Given the description of an element on the screen output the (x, y) to click on. 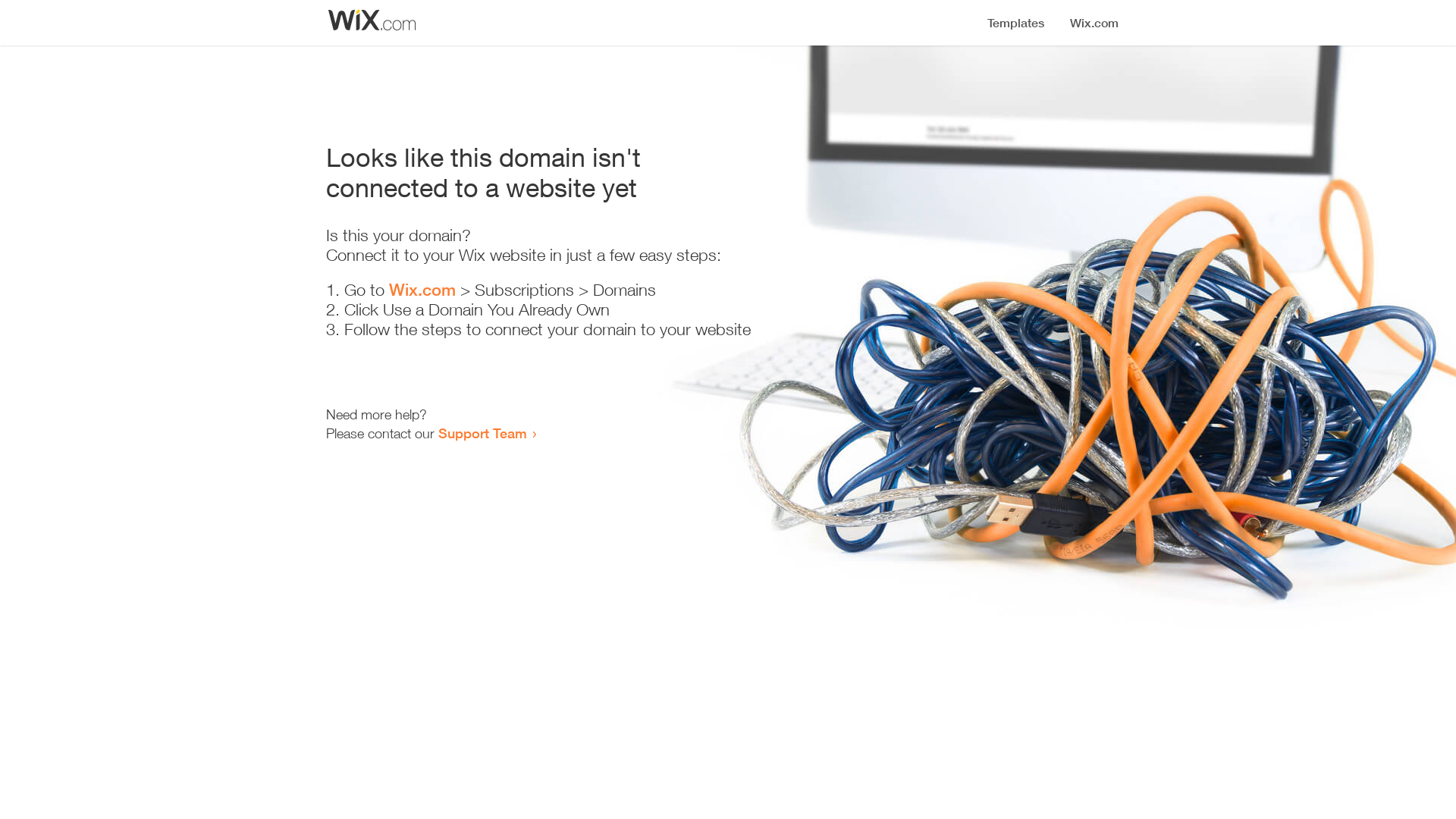
Support Team Element type: text (482, 432)
Wix.com Element type: text (422, 289)
